Given the description of an element on the screen output the (x, y) to click on. 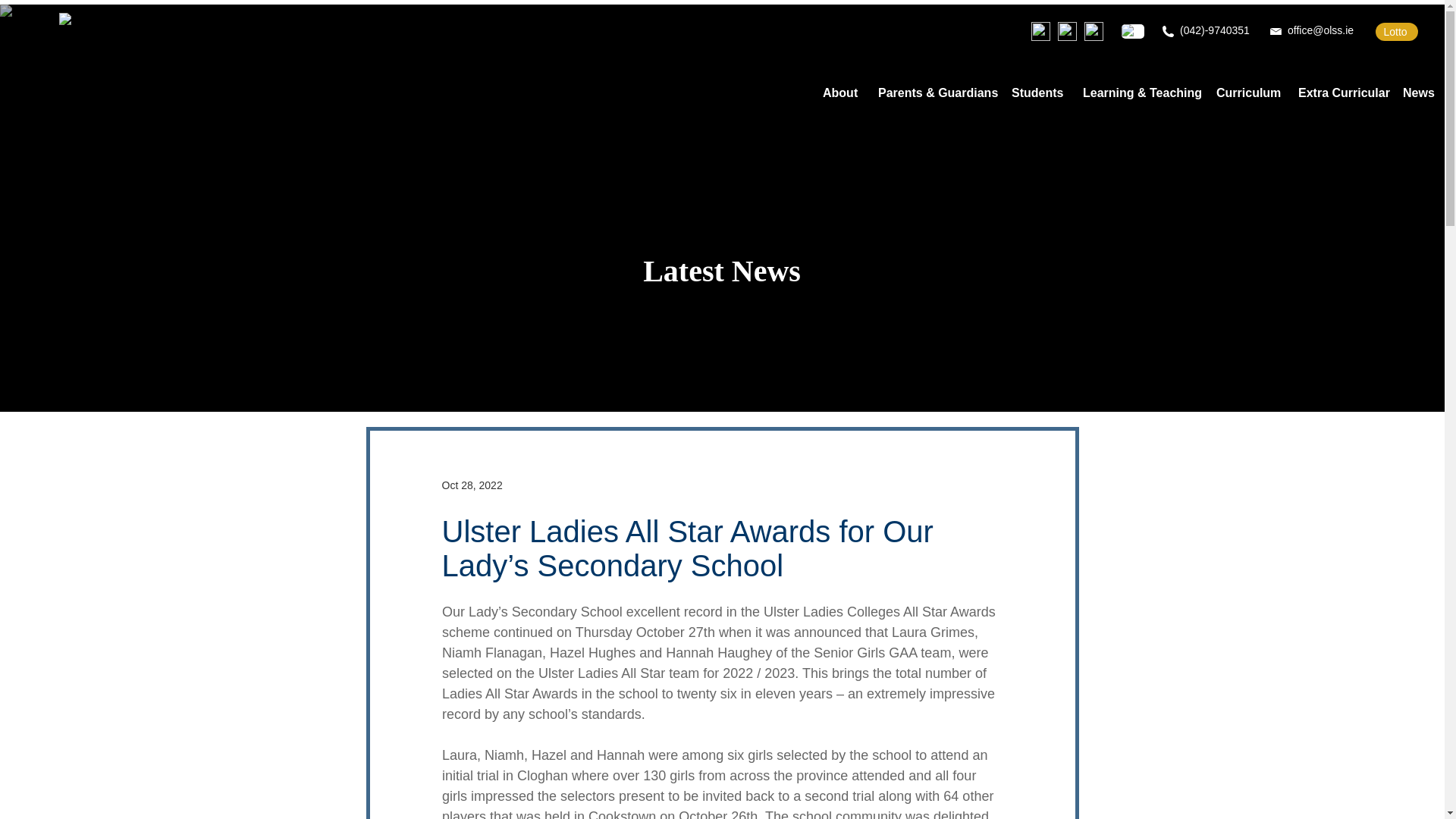
Lotto (1396, 31)
News (1417, 93)
Extra Curricular (1339, 93)
Oct 28, 2022 (471, 485)
